Given the description of an element on the screen output the (x, y) to click on. 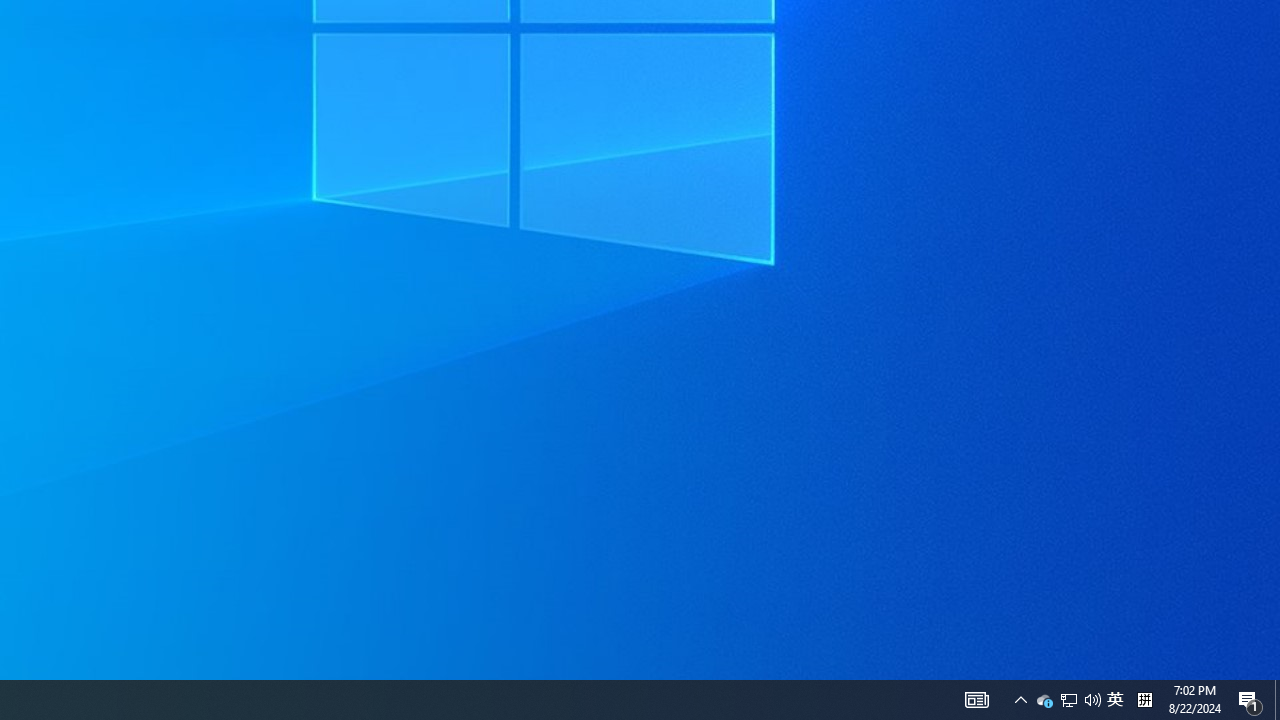
Action Center, 1 new notification (1044, 699)
